Given the description of an element on the screen output the (x, y) to click on. 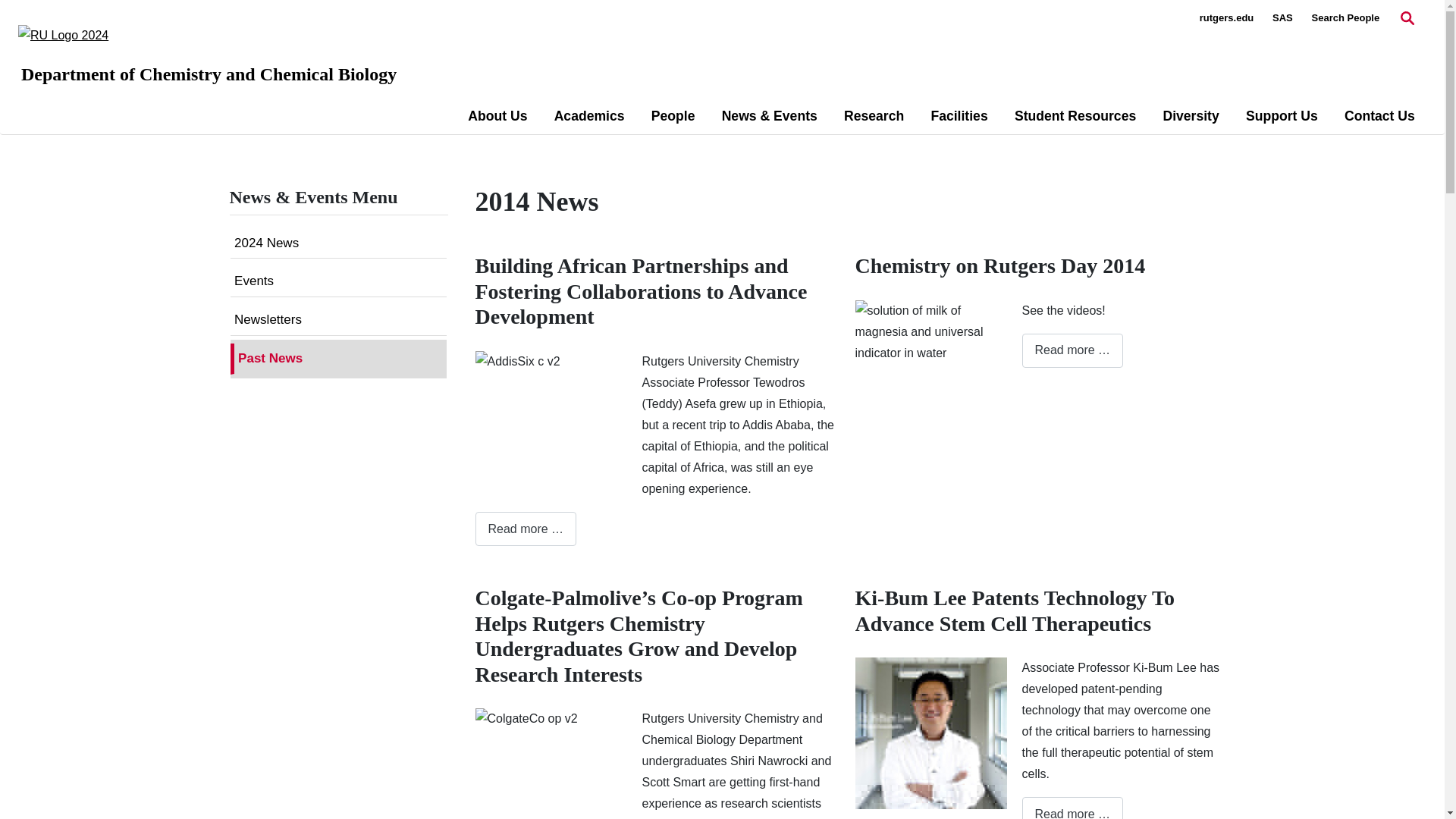
Department of Chemistry and Chemical Biology (208, 74)
rutgers.edu (1226, 17)
Research (874, 116)
People (672, 116)
About Us (497, 116)
Facilities (958, 116)
Academics (589, 116)
Search People (1345, 17)
